Given the description of an element on the screen output the (x, y) to click on. 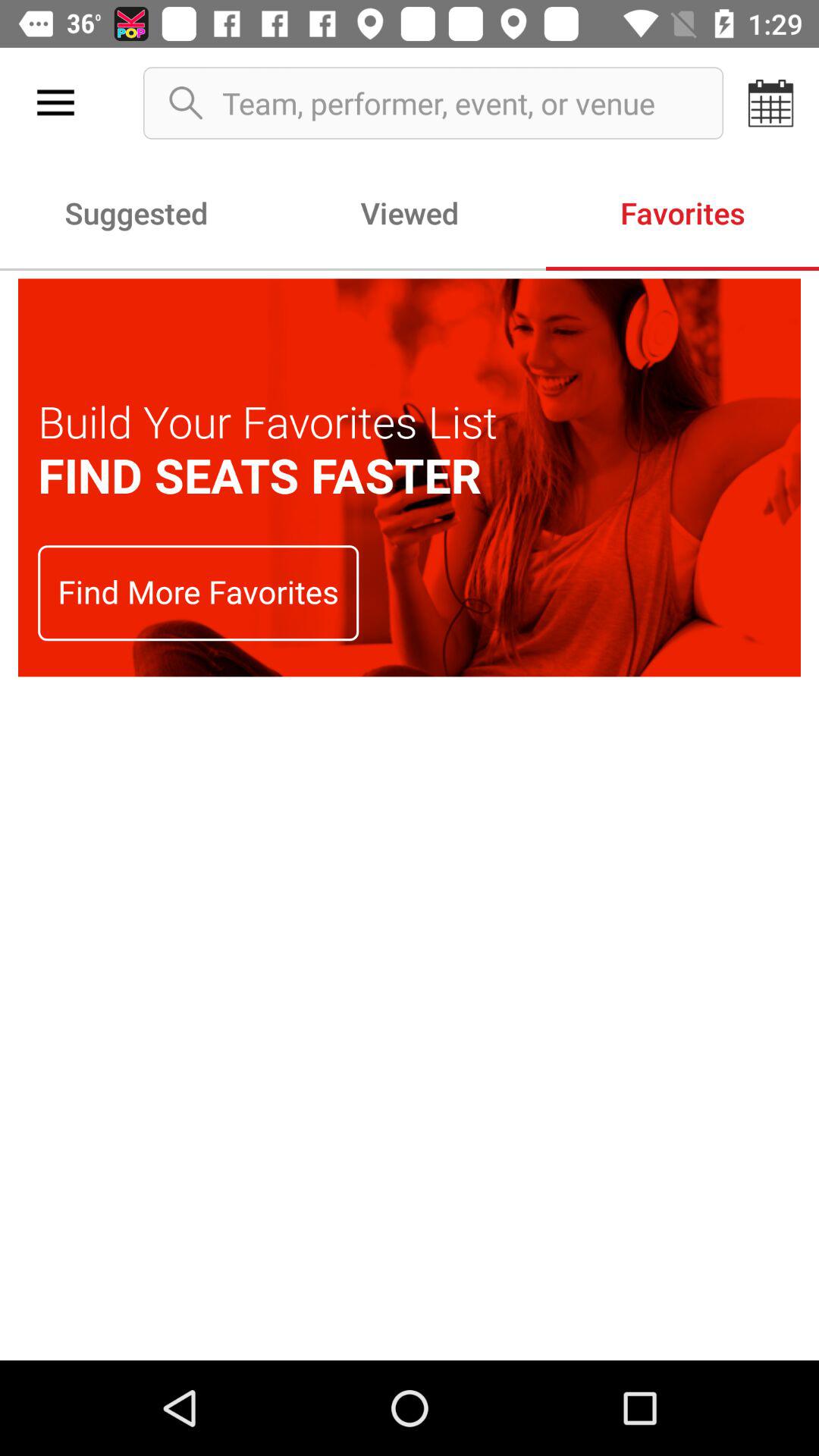
tap item to the left of favorites (409, 212)
